Given the description of an element on the screen output the (x, y) to click on. 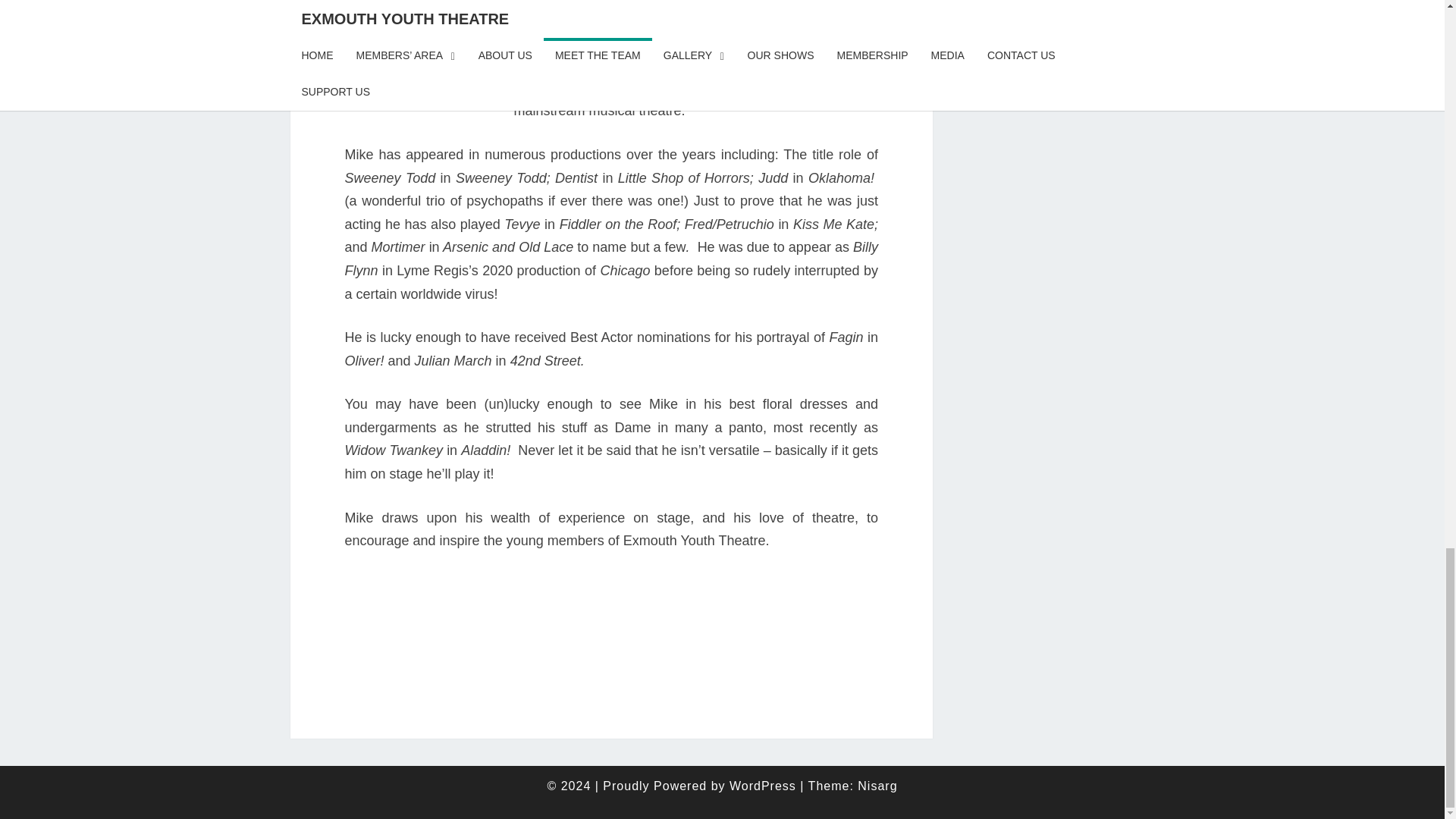
Nisarg (876, 785)
WordPress (762, 785)
